Given the description of an element on the screen output the (x, y) to click on. 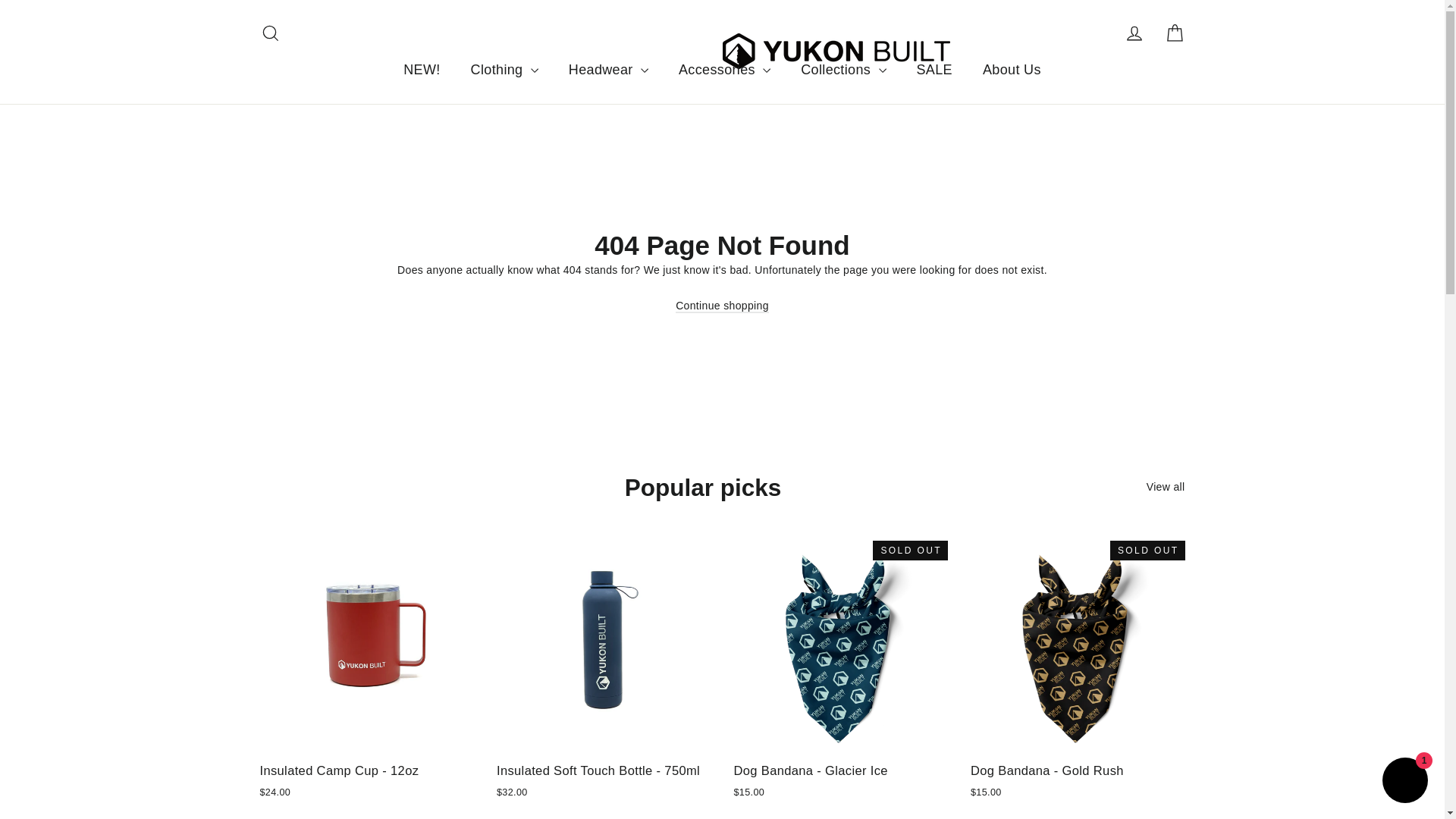
Shopify online store chat (1404, 781)
account (269, 33)
icon-search (1134, 33)
